Given the description of an element on the screen output the (x, y) to click on. 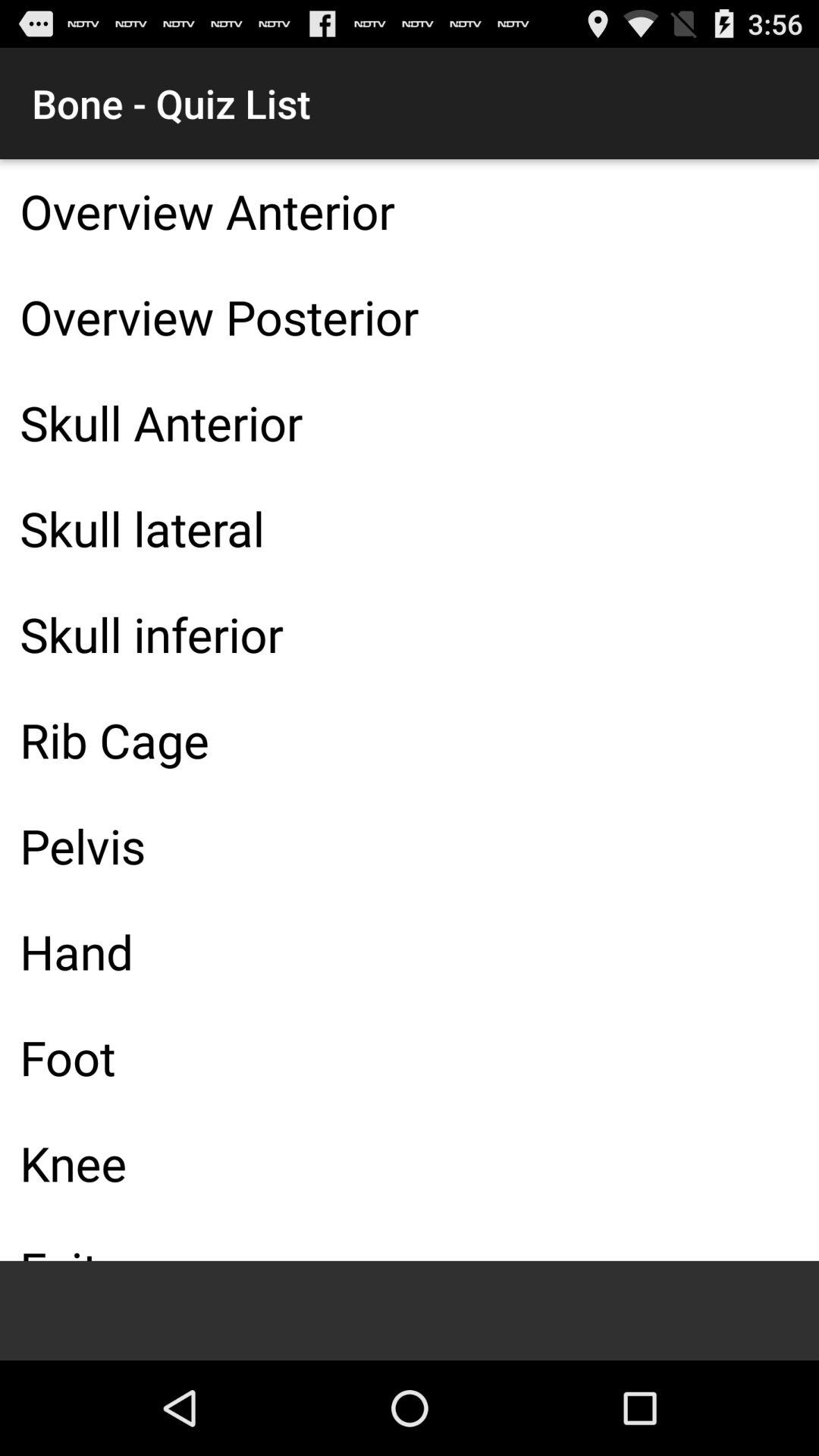
launch the item below the rib cage app (409, 845)
